Given the description of an element on the screen output the (x, y) to click on. 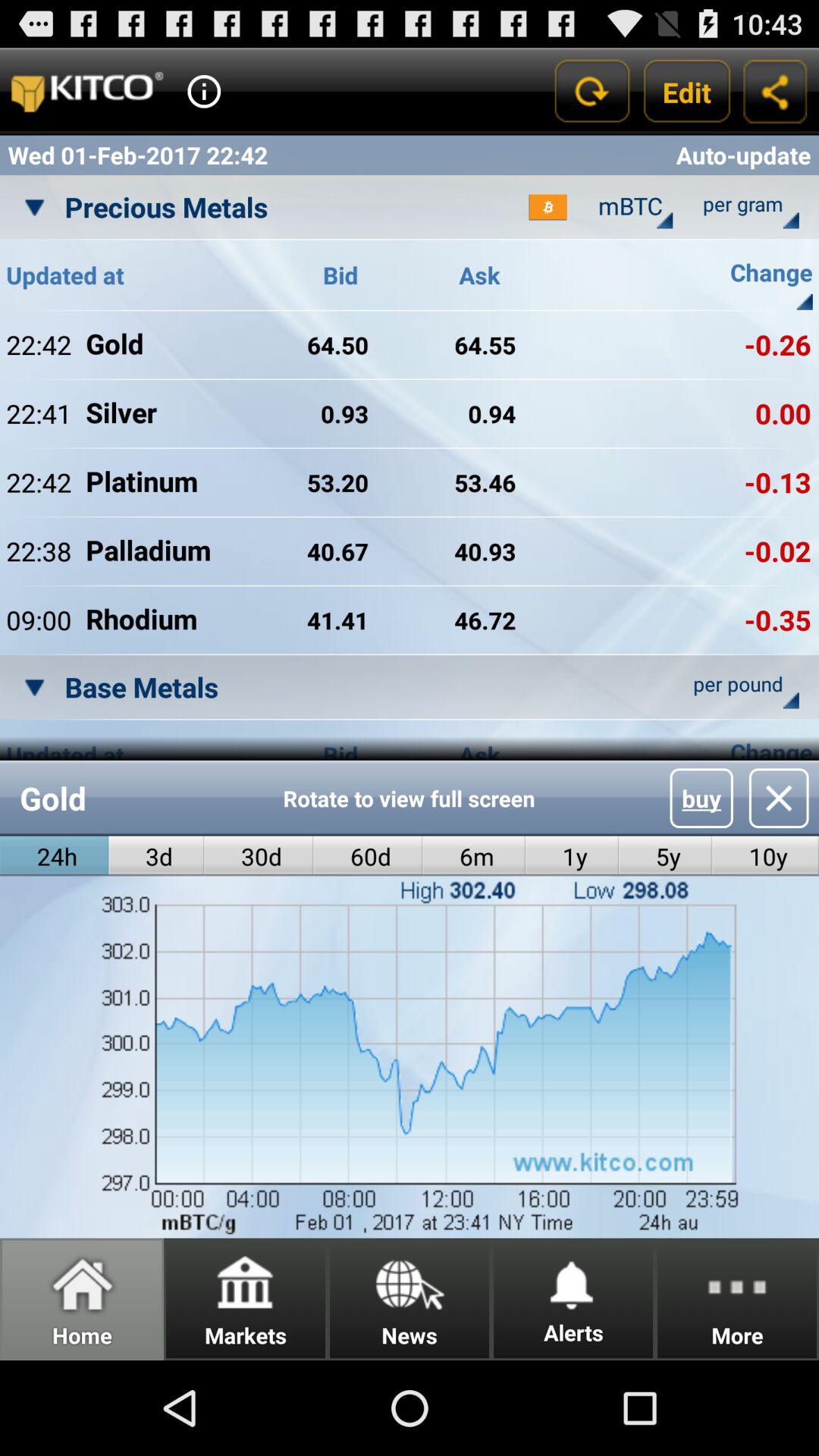
close page (778, 798)
